Given the description of an element on the screen output the (x, y) to click on. 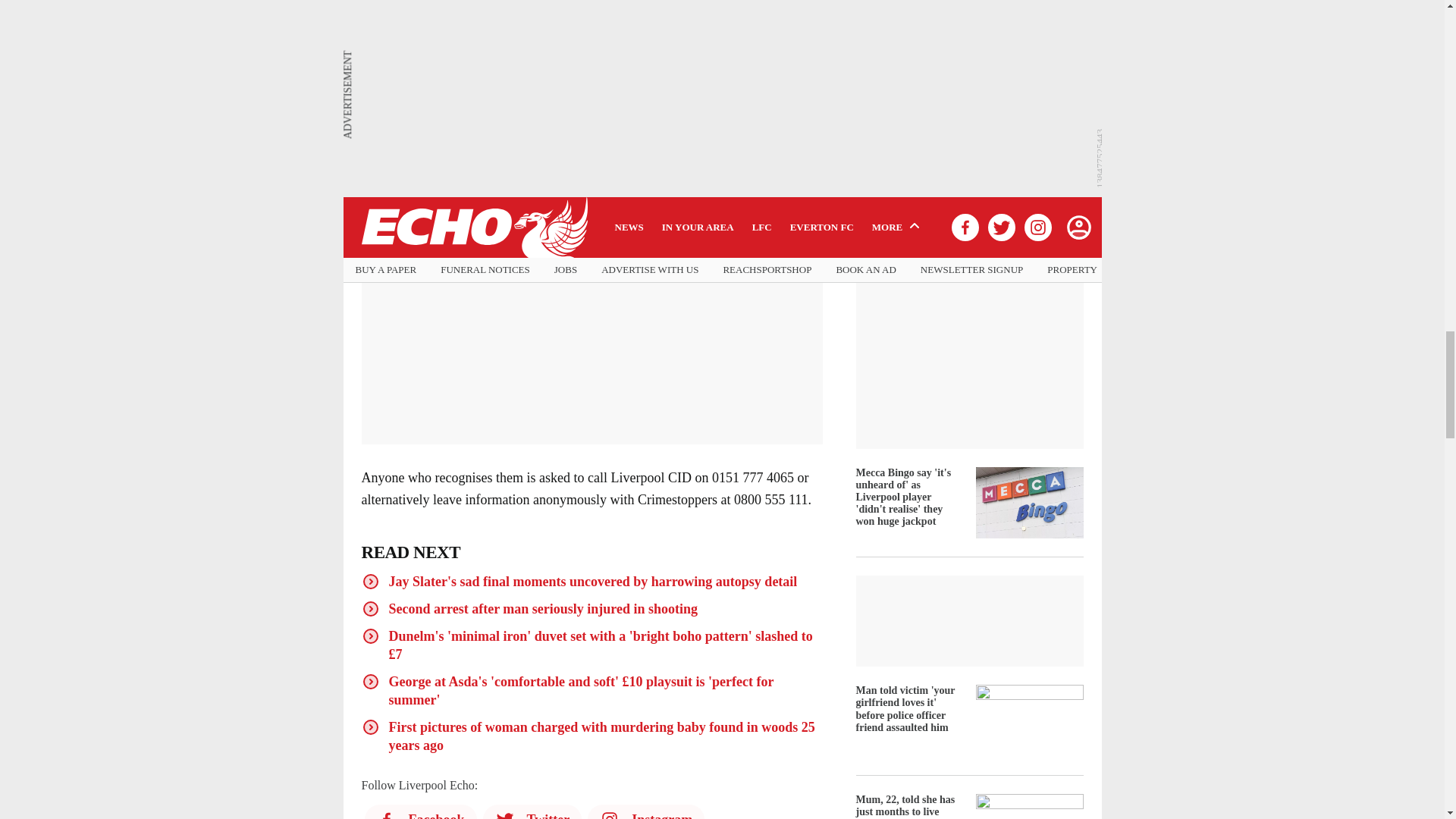
Read Next Article Icon (369, 608)
Read Next Article Icon (369, 581)
Read Next Article Icon (369, 681)
Read Next Article Icon (369, 636)
Read Next Article Icon (369, 727)
